Given the description of an element on the screen output the (x, y) to click on. 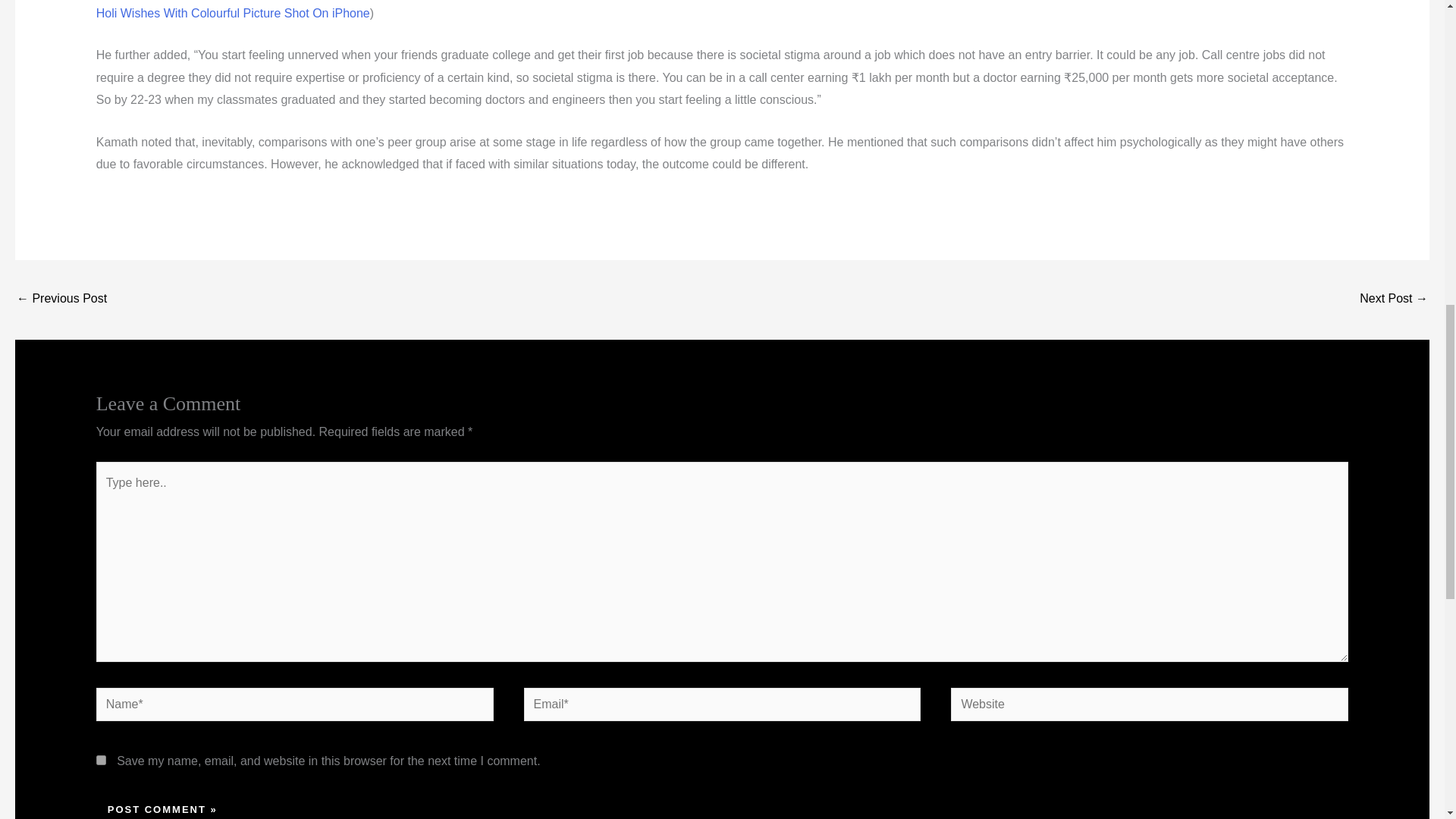
yes (101, 759)
